Given the description of an element on the screen output the (x, y) to click on. 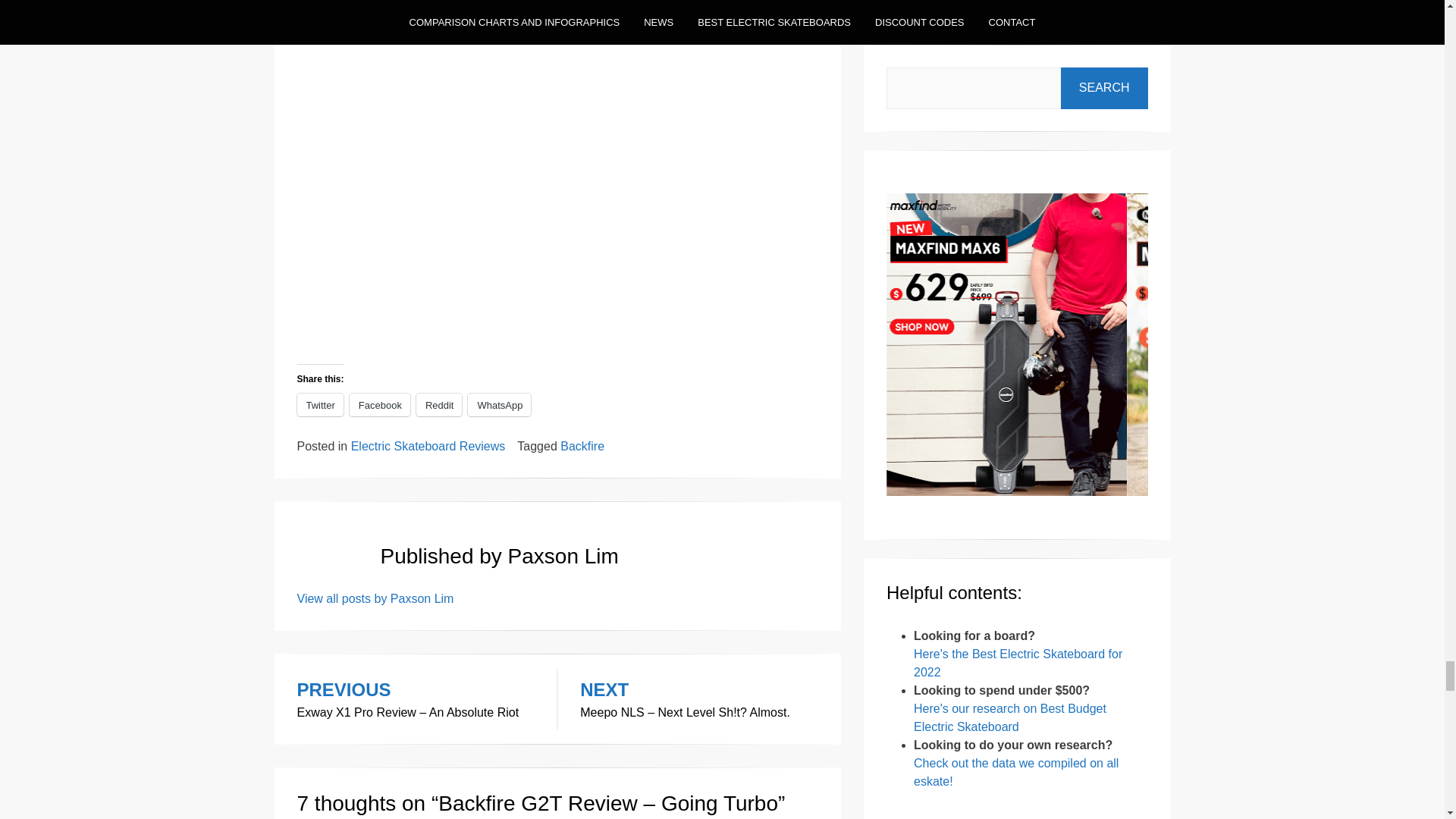
View all posts by Paxson Lim (375, 598)
Twitter (320, 404)
Click to share on Twitter (320, 404)
Backfire (582, 445)
Click to share on Reddit (439, 404)
Facebook (379, 404)
WhatsApp (499, 404)
Reddit (439, 404)
Electric Skateboard Reviews (427, 445)
Click to share on WhatsApp (499, 404)
Click to share on Facebook (379, 404)
